Given the description of an element on the screen output the (x, y) to click on. 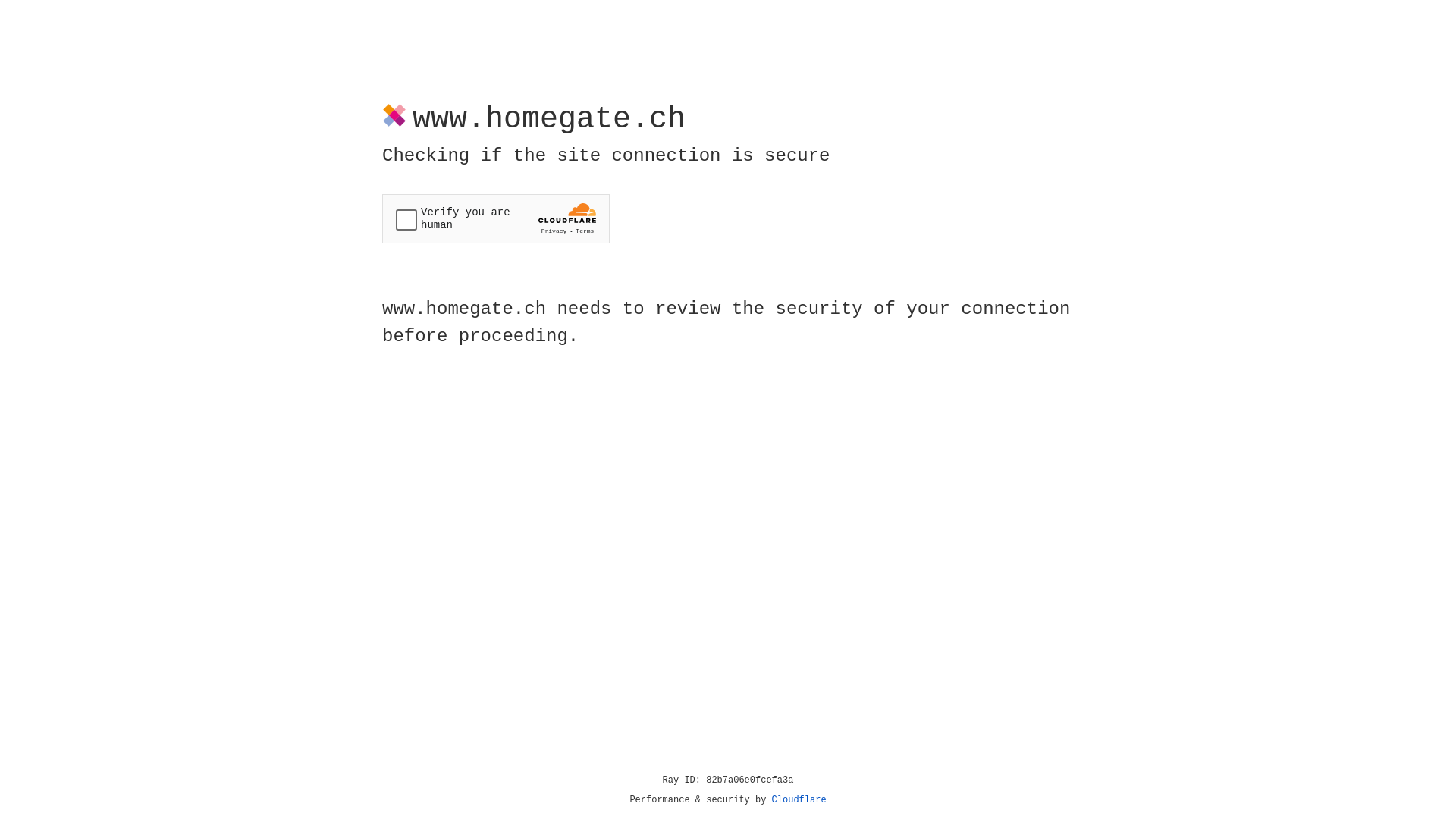
Cloudflare Element type: text (798, 799)
Widget containing a Cloudflare security challenge Element type: hover (495, 218)
